Given the description of an element on the screen output the (x, y) to click on. 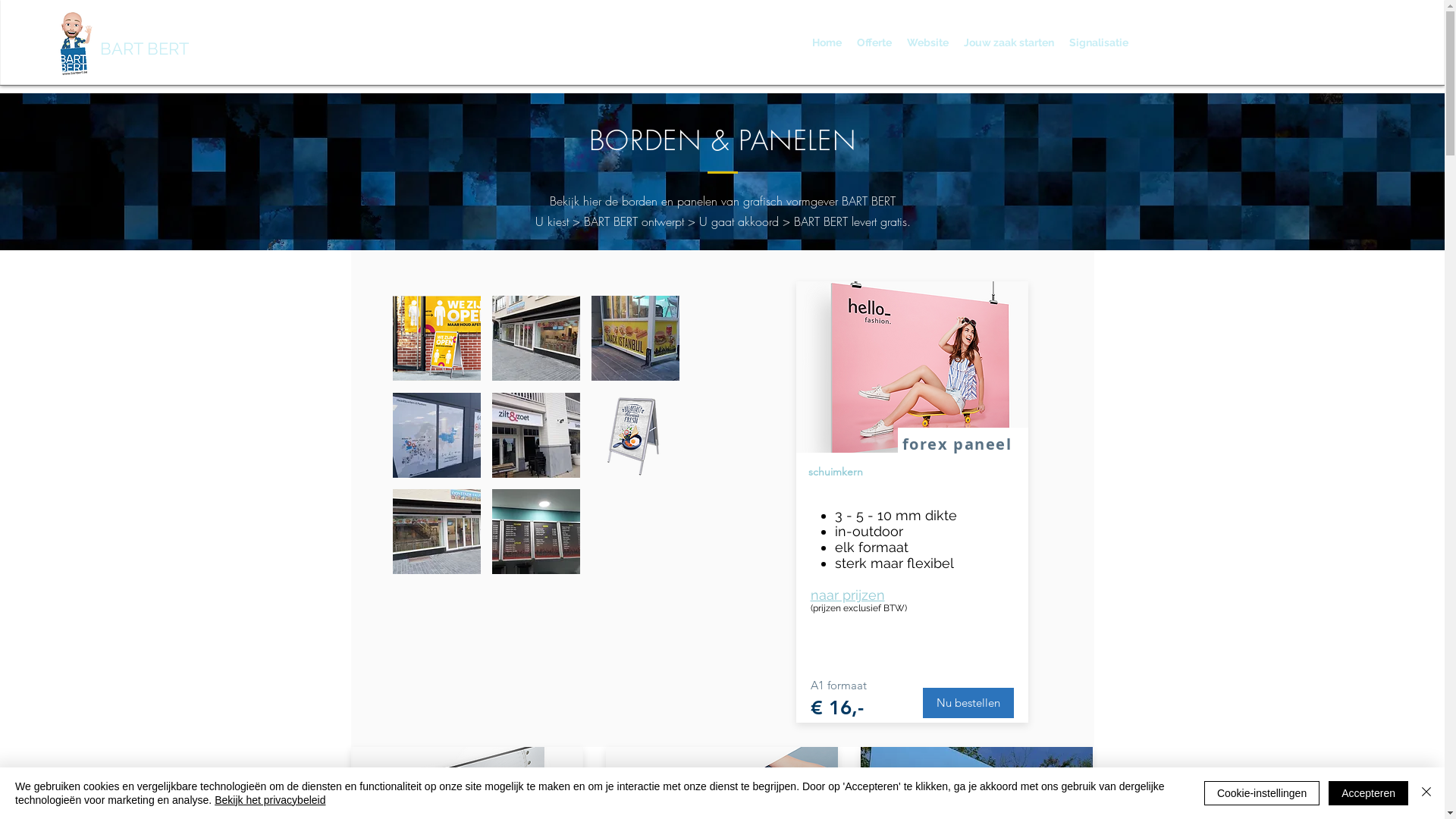
Accepteren Element type: text (1368, 793)
Offerte Element type: text (874, 42)
naar prijzen Element type: text (846, 594)
BART BERT Element type: text (144, 48)
Home Element type: text (826, 42)
Nu bestellen Element type: text (967, 702)
Cookie-instellingen Element type: text (1261, 793)
Jouw zaak starten Element type: text (1008, 42)
Website Element type: text (927, 42)
Bekijk het privacybeleid Element type: text (269, 799)
